Given the description of an element on the screen output the (x, y) to click on. 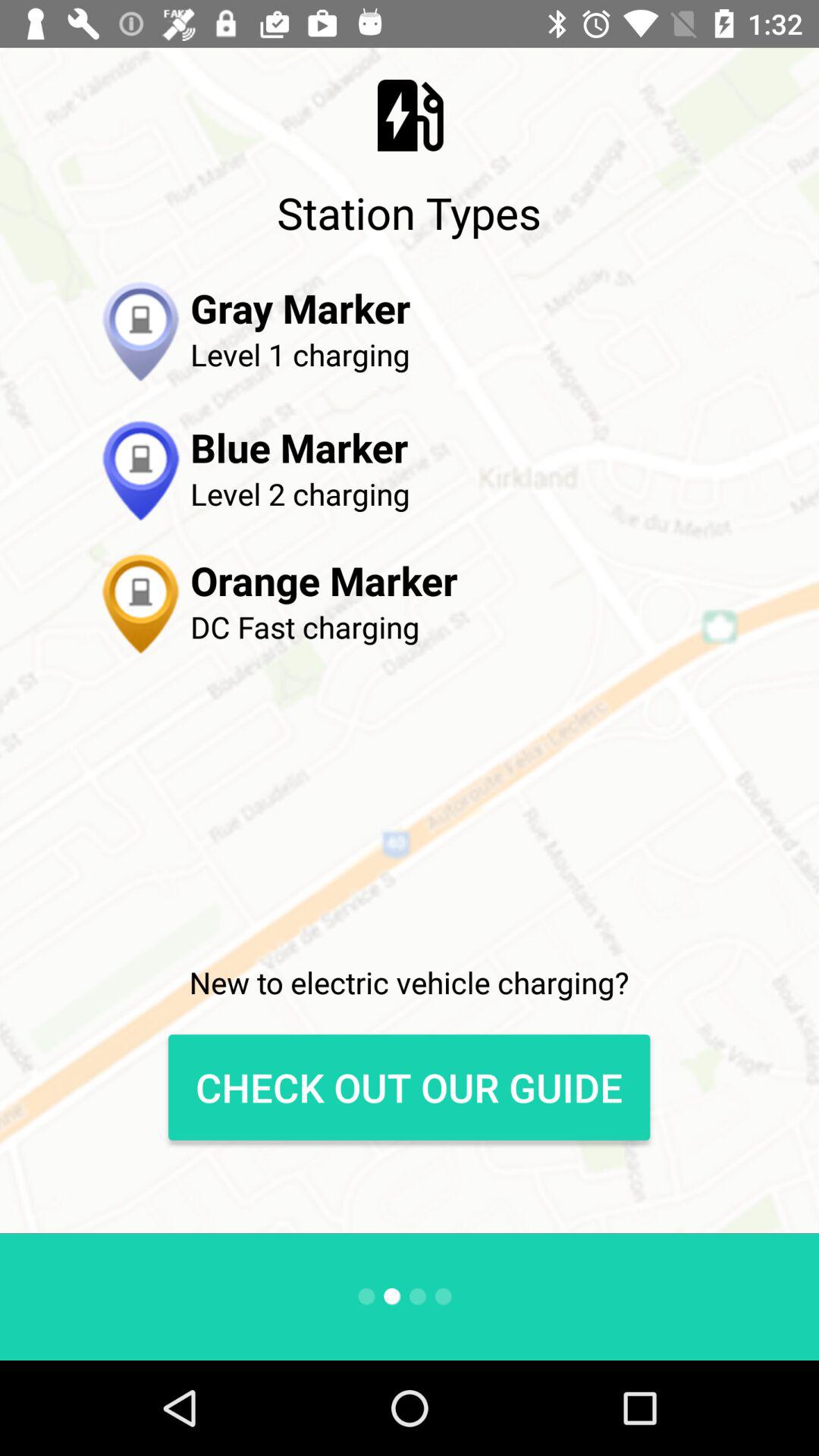
click check out our icon (409, 1087)
